Given the description of an element on the screen output the (x, y) to click on. 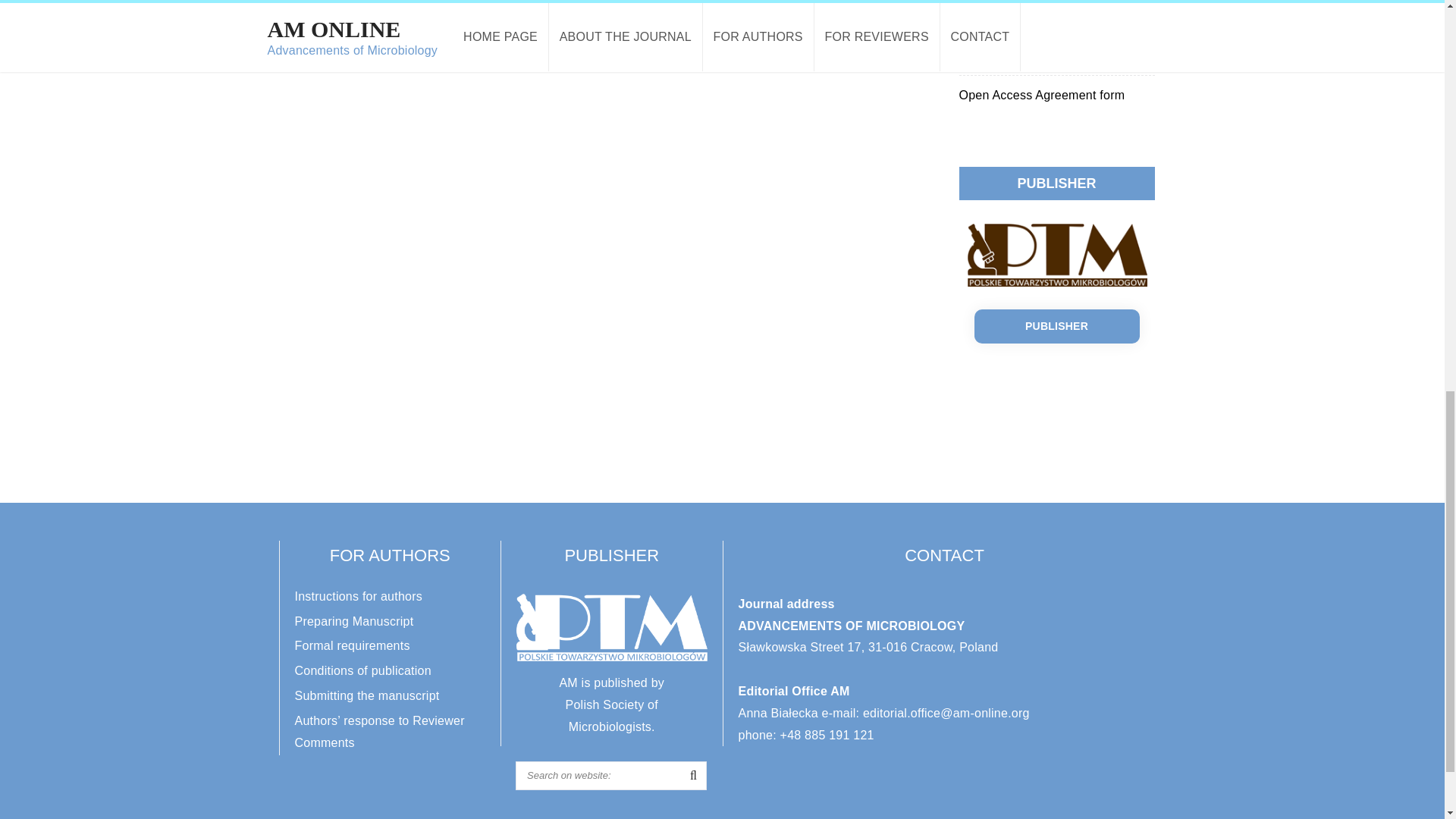
Open Access Agreement form (1041, 94)
Statement of Authorship of the Manuscript (1042, 42)
Szukaj na stronie: (610, 775)
